Given the description of an element on the screen output the (x, y) to click on. 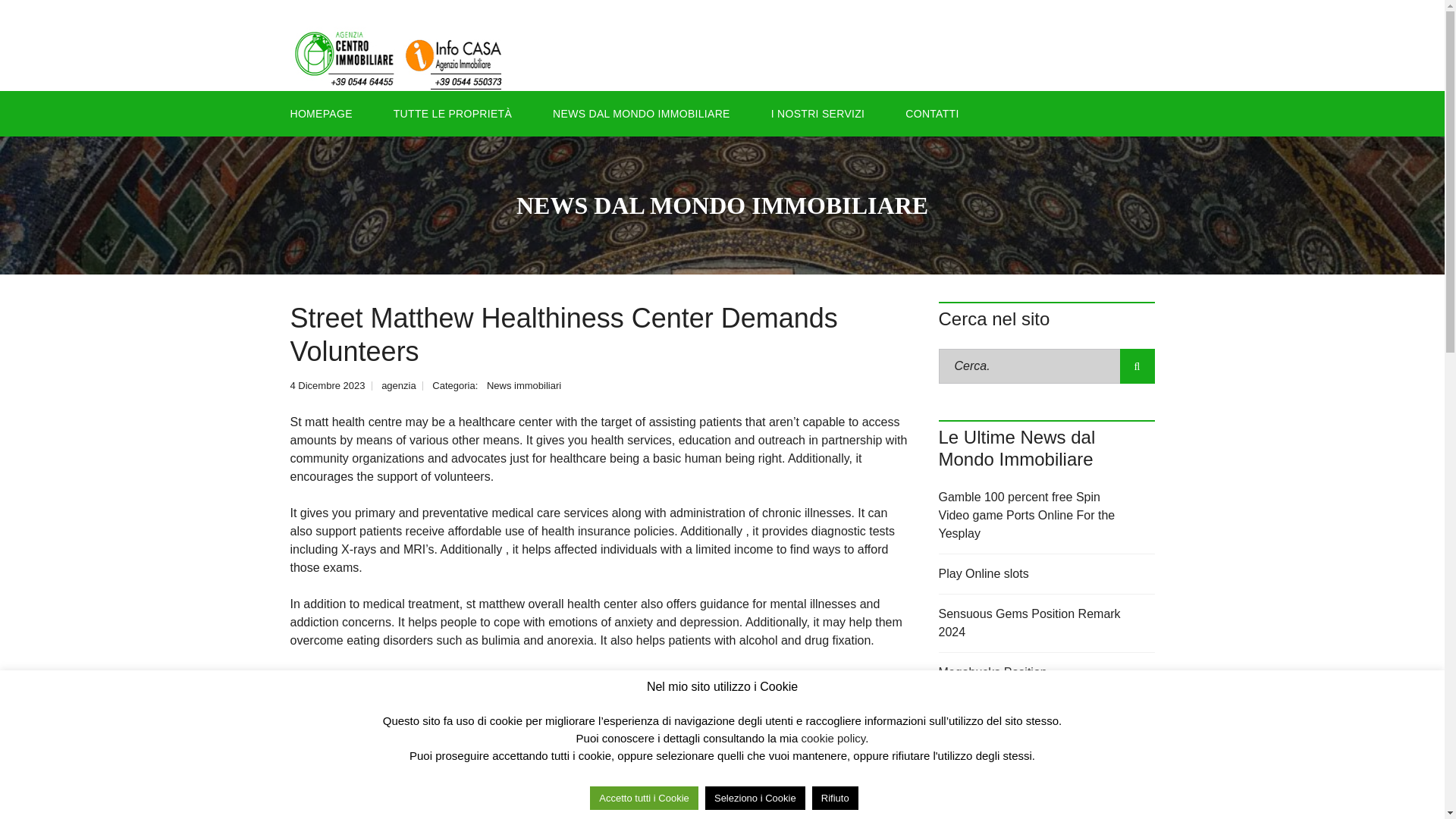
Megabucks Position (1046, 672)
Malaysia Online casino Site (1046, 712)
Sensuous Gems Position Remark 2024 (1046, 623)
I NOSTRI SERVIZI (817, 113)
HOMEPAGE (327, 113)
News immobiliari (523, 385)
company website (581, 676)
CONTATTI (931, 113)
NEWS DAL MONDO IMMOBILIARE (641, 113)
Play Online slots (1046, 574)
